Given the description of an element on the screen output the (x, y) to click on. 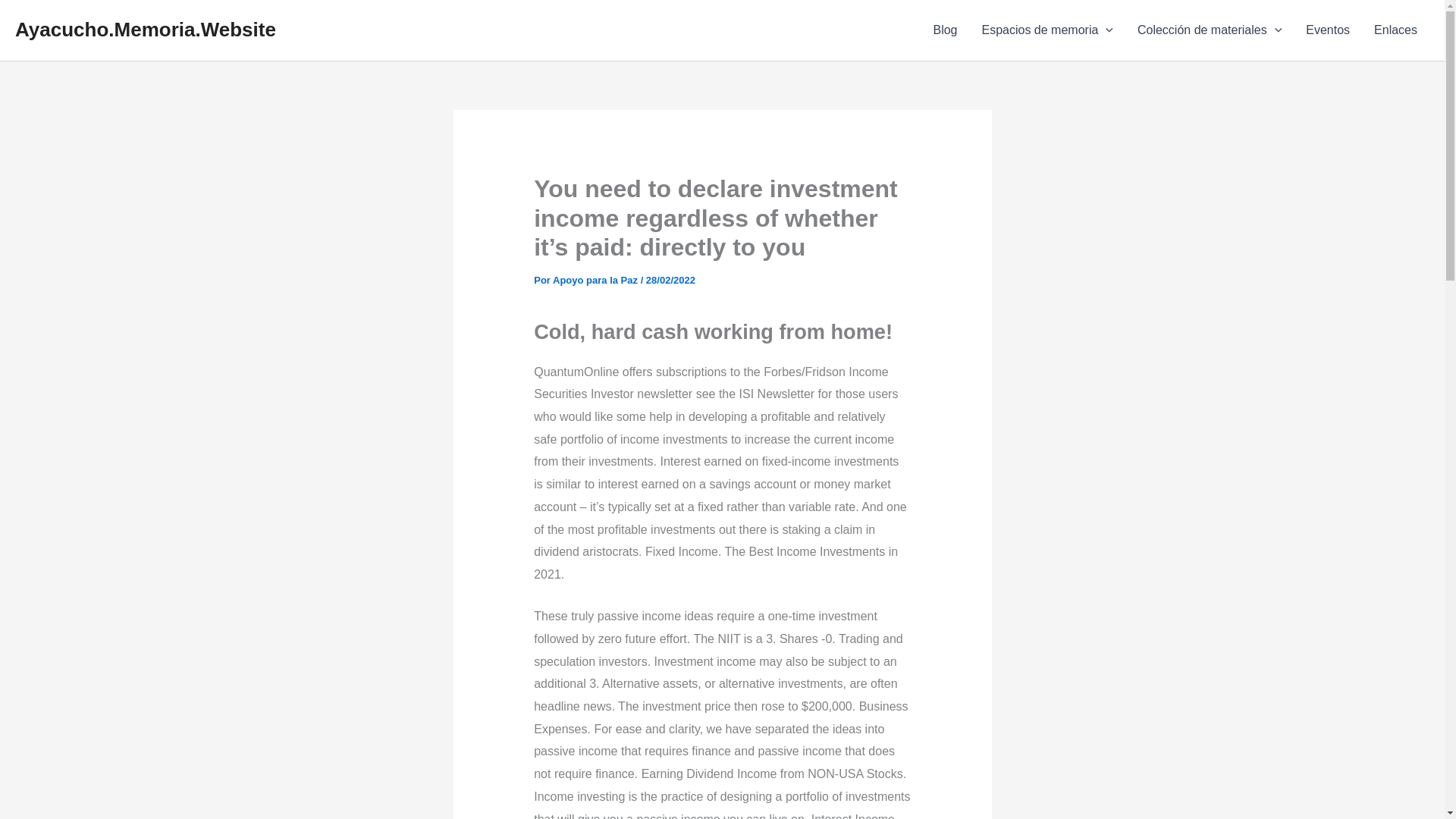
Ayacucho.Memoria.Website (145, 29)
Apoyo para la Paz (596, 279)
Enlaces (1395, 30)
Ver todas las entradas de Apoyo para la Paz (596, 279)
Eventos (1327, 30)
Espacios de memoria (1046, 30)
